Given the description of an element on the screen output the (x, y) to click on. 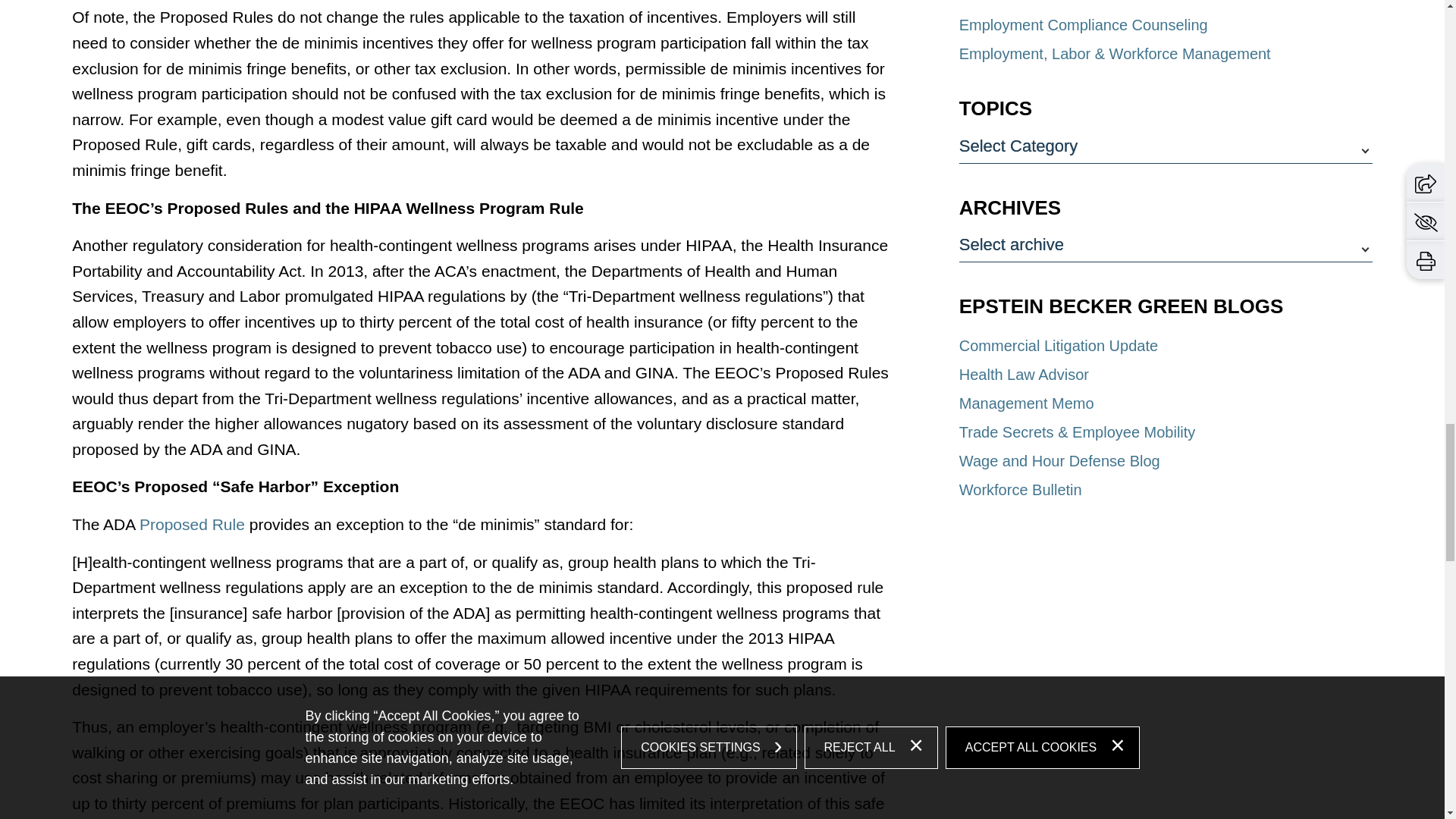
Proposed Rule (191, 524)
